Given the description of an element on the screen output the (x, y) to click on. 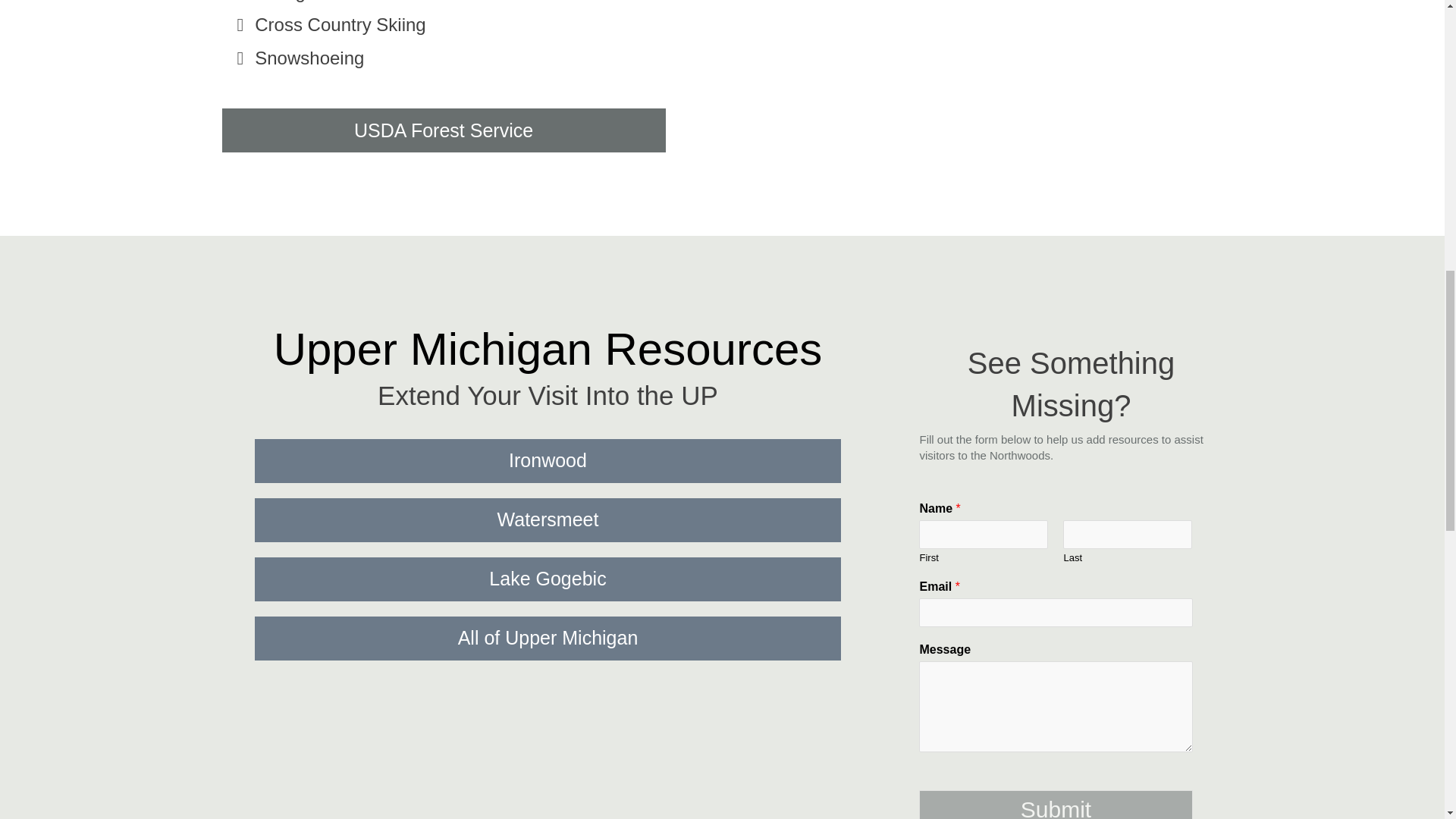
USDA Forest Service (443, 130)
Lake Gogebic (547, 579)
All of Upper Michigan (547, 638)
Submit (1055, 804)
Watersmeet (547, 519)
Ironwood (547, 460)
